Given the description of an element on the screen output the (x, y) to click on. 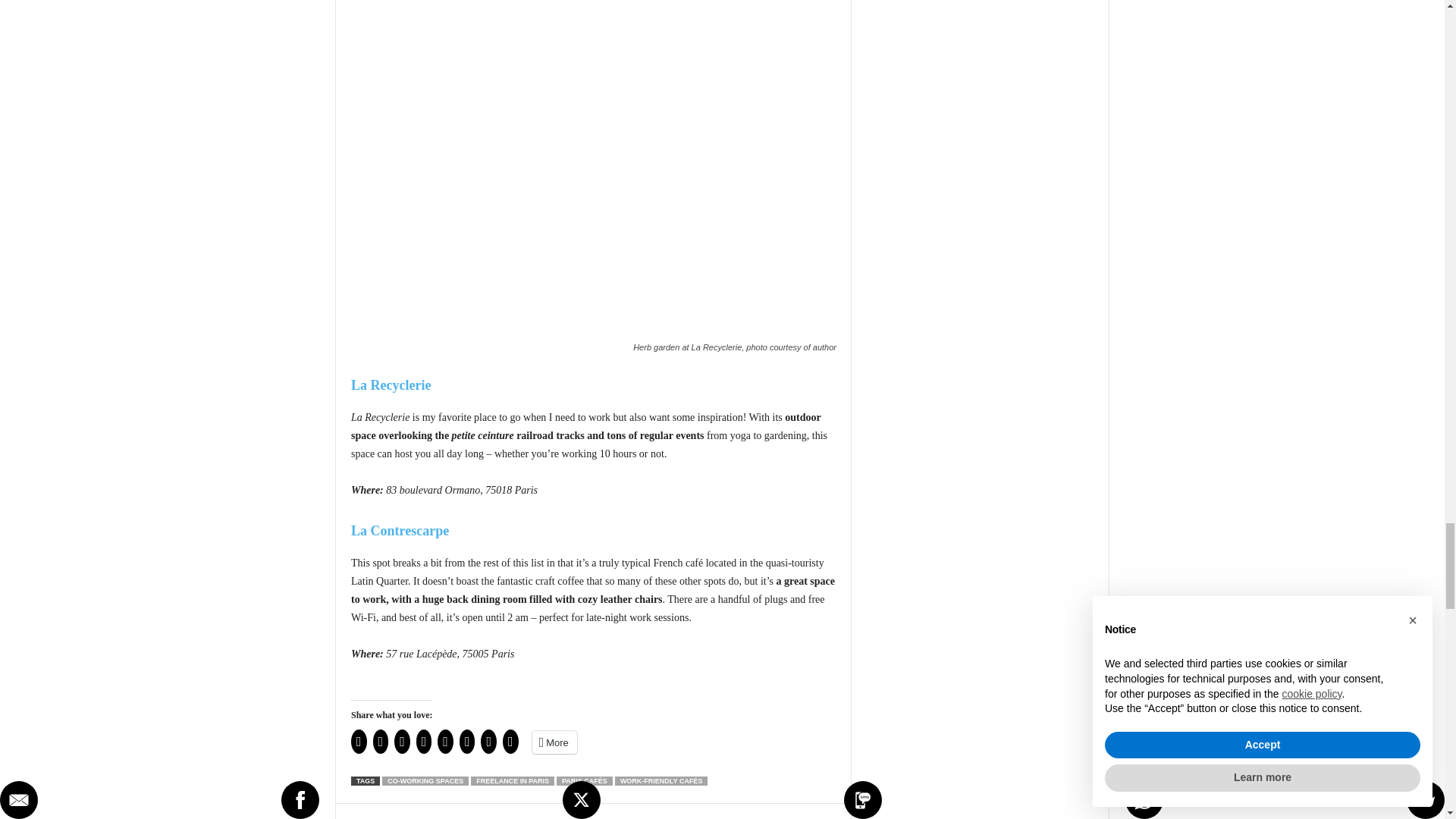
Click to print (380, 741)
Click to email a link to a friend (358, 741)
Click to share on Facebook (402, 741)
Click to share on Twitter (424, 741)
